Given the description of an element on the screen output the (x, y) to click on. 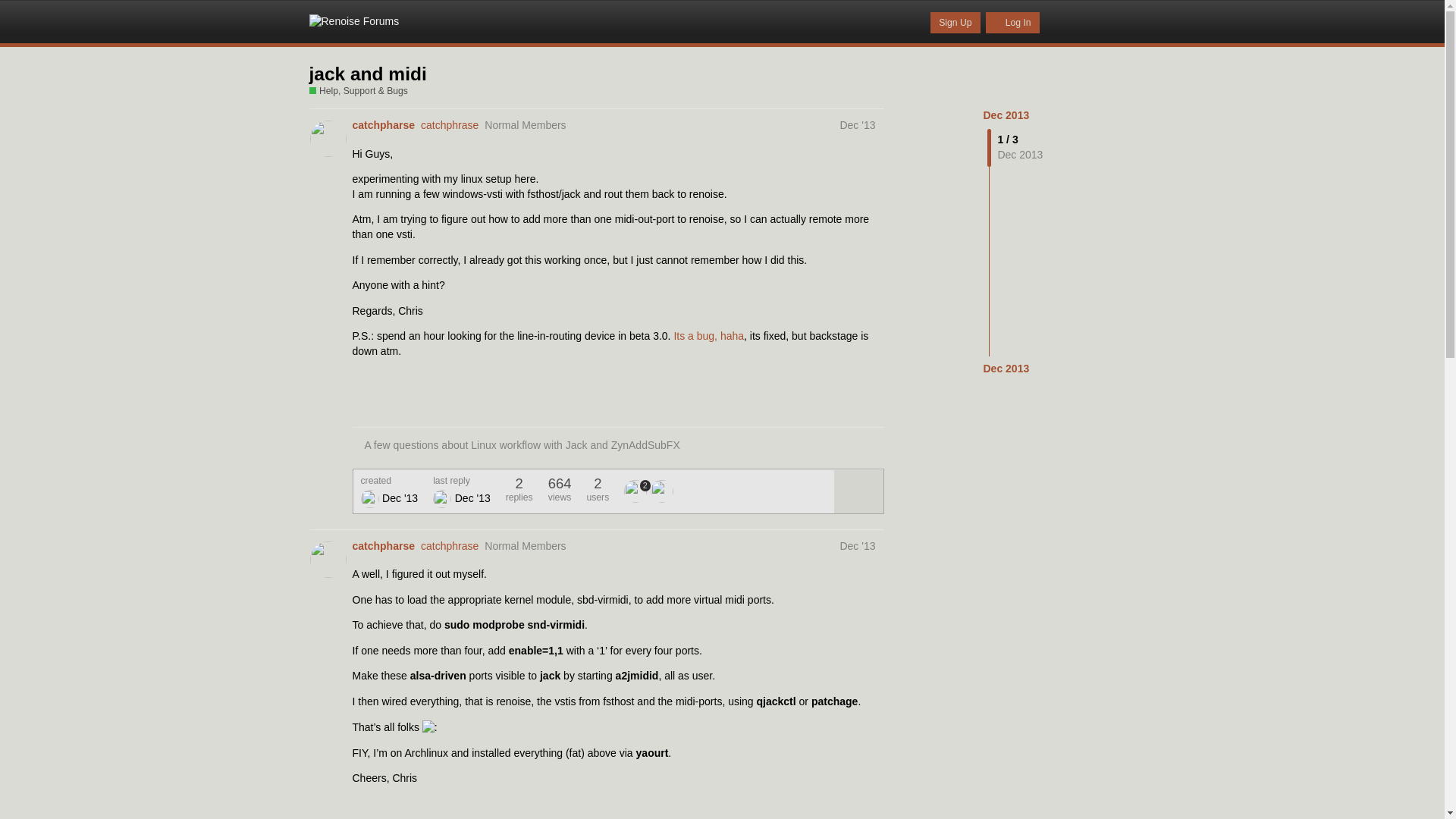
2 (637, 490)
Dec '13 (857, 124)
jack and midi (367, 73)
catchpharse (382, 546)
menu (1120, 21)
gimmeapill (441, 498)
last reply (461, 480)
Its a bug, haha (708, 336)
Dec 2013 (1005, 114)
expand topic details (857, 491)
Dec 2013 (1005, 368)
Log In (1012, 22)
catchphrase (449, 545)
1 Reply (376, 816)
Back to www.renoise.com (1060, 21)
